Given the description of an element on the screen output the (x, y) to click on. 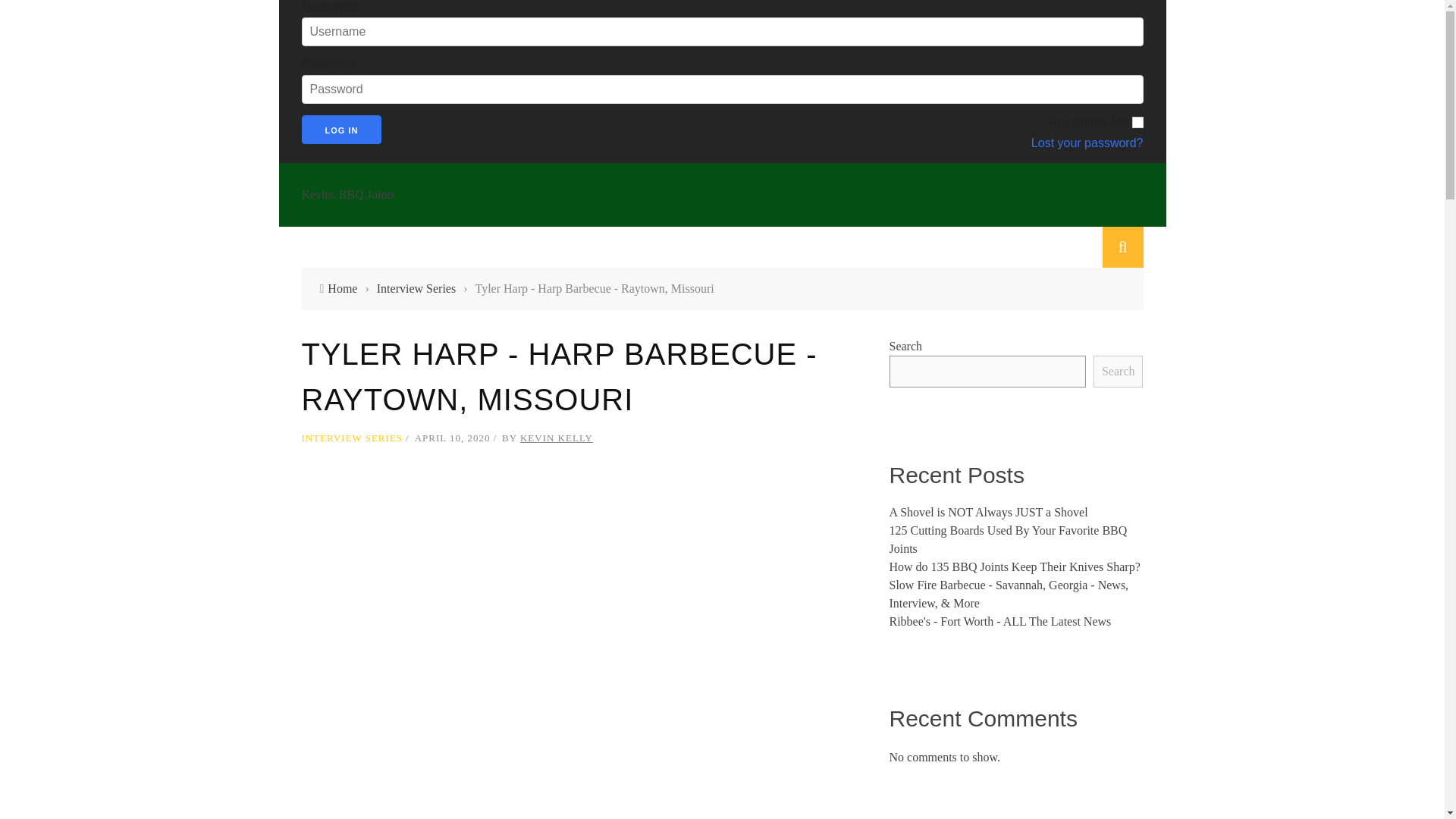
Home (341, 287)
Log In (341, 129)
Kevins BBQ Joints (721, 194)
A Shovel is NOT Always JUST a Shovel (987, 512)
INTERVIEW SERIES (352, 437)
Log In (341, 129)
Search (1117, 371)
Lost your password? (939, 142)
forever (1136, 122)
KEVIN KELLY (555, 437)
Password Lost and Found (939, 142)
Interview Series (416, 287)
